Given the description of an element on the screen output the (x, y) to click on. 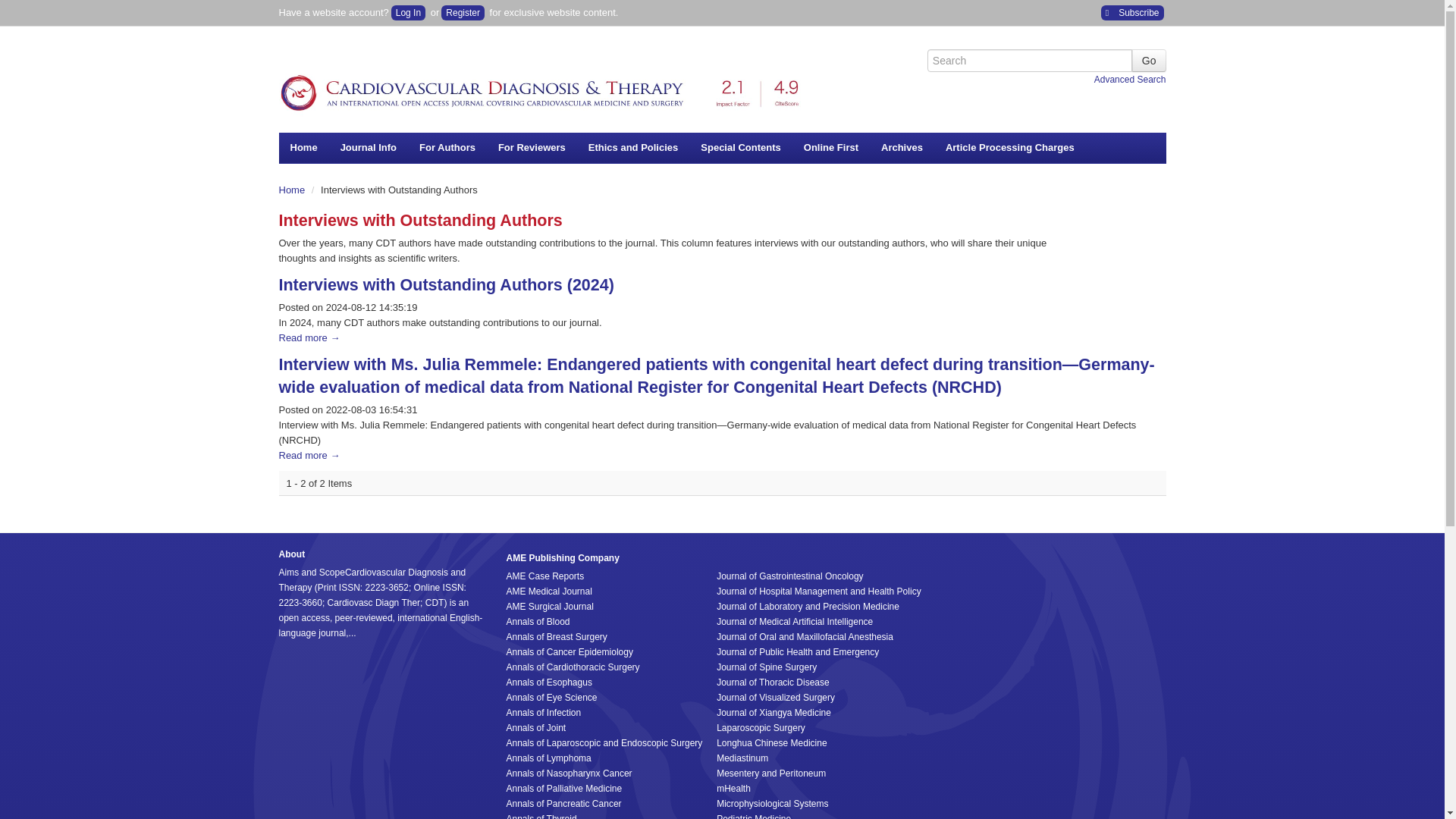
Ethics and Policies (633, 146)
Cardiovascular Diagnosis and Therapy (544, 88)
For Authors (446, 146)
 Subscribe (1131, 12)
Journal Info (368, 146)
For Reviewers (531, 146)
Go (1149, 60)
Advanced Search (1130, 79)
Home (304, 146)
Register (462, 12)
